Given the description of an element on the screen output the (x, y) to click on. 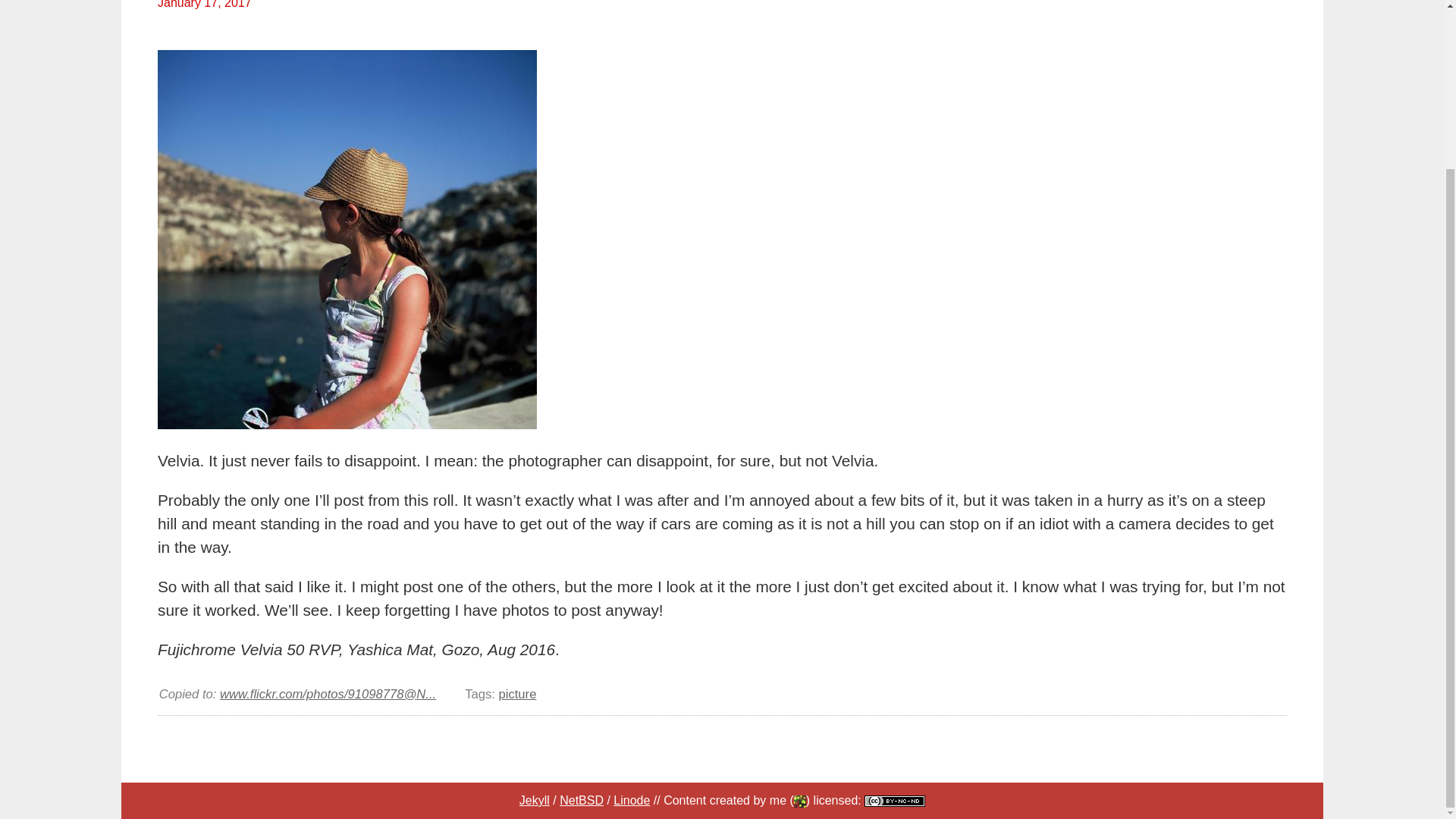
January 17, 2017 (210, 7)
Linode (630, 799)
NetBSD (581, 799)
picture (516, 694)
Jekyll (534, 799)
